Given the description of an element on the screen output the (x, y) to click on. 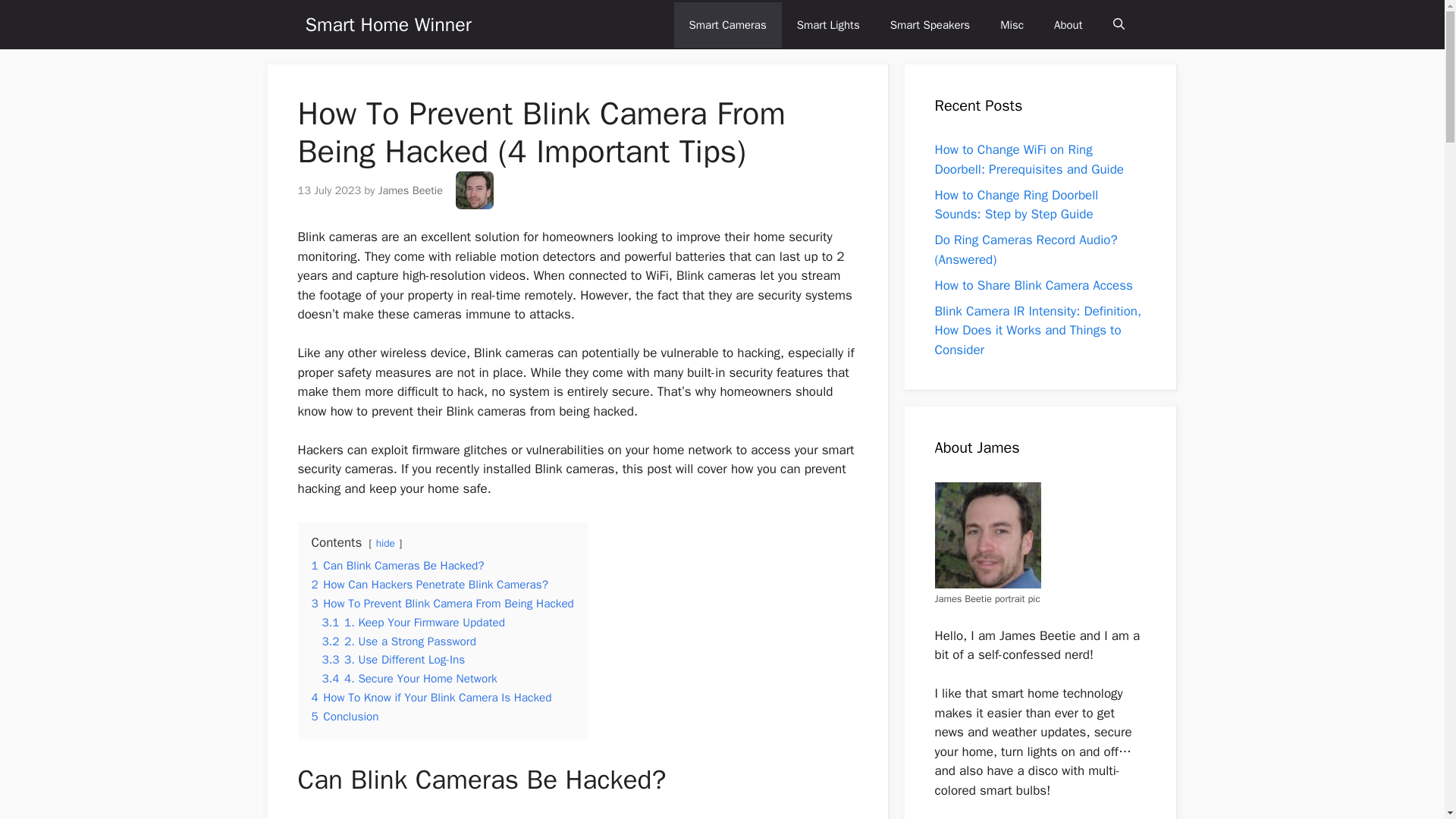
Smart Speakers (930, 23)
How to Change WiFi on Ring Doorbell: Prerequisites and Guide (1029, 159)
Misc (1012, 23)
James Beetie (410, 190)
About (1068, 23)
Smart Home Winner (387, 24)
1 Can Blink Cameras Be Hacked? (397, 565)
3.1 1. Keep Your Firmware Updated (413, 622)
2 How Can Hackers Penetrate Blink Cameras? (429, 584)
How to Share Blink Camera Access (1033, 285)
